Given the description of an element on the screen output the (x, y) to click on. 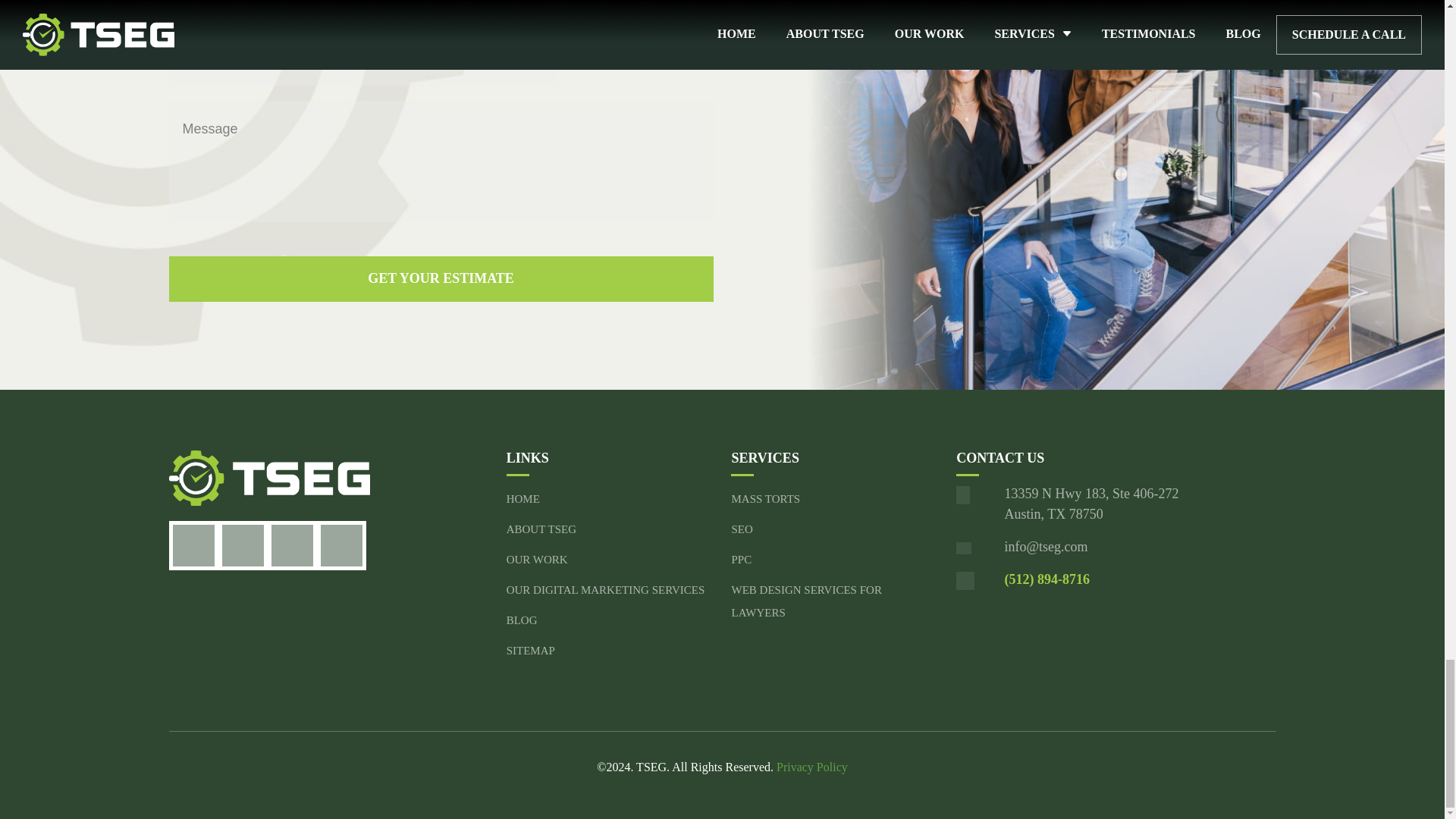
Get your estimate (440, 279)
Get your estimate (440, 279)
